Given the description of an element on the screen output the (x, y) to click on. 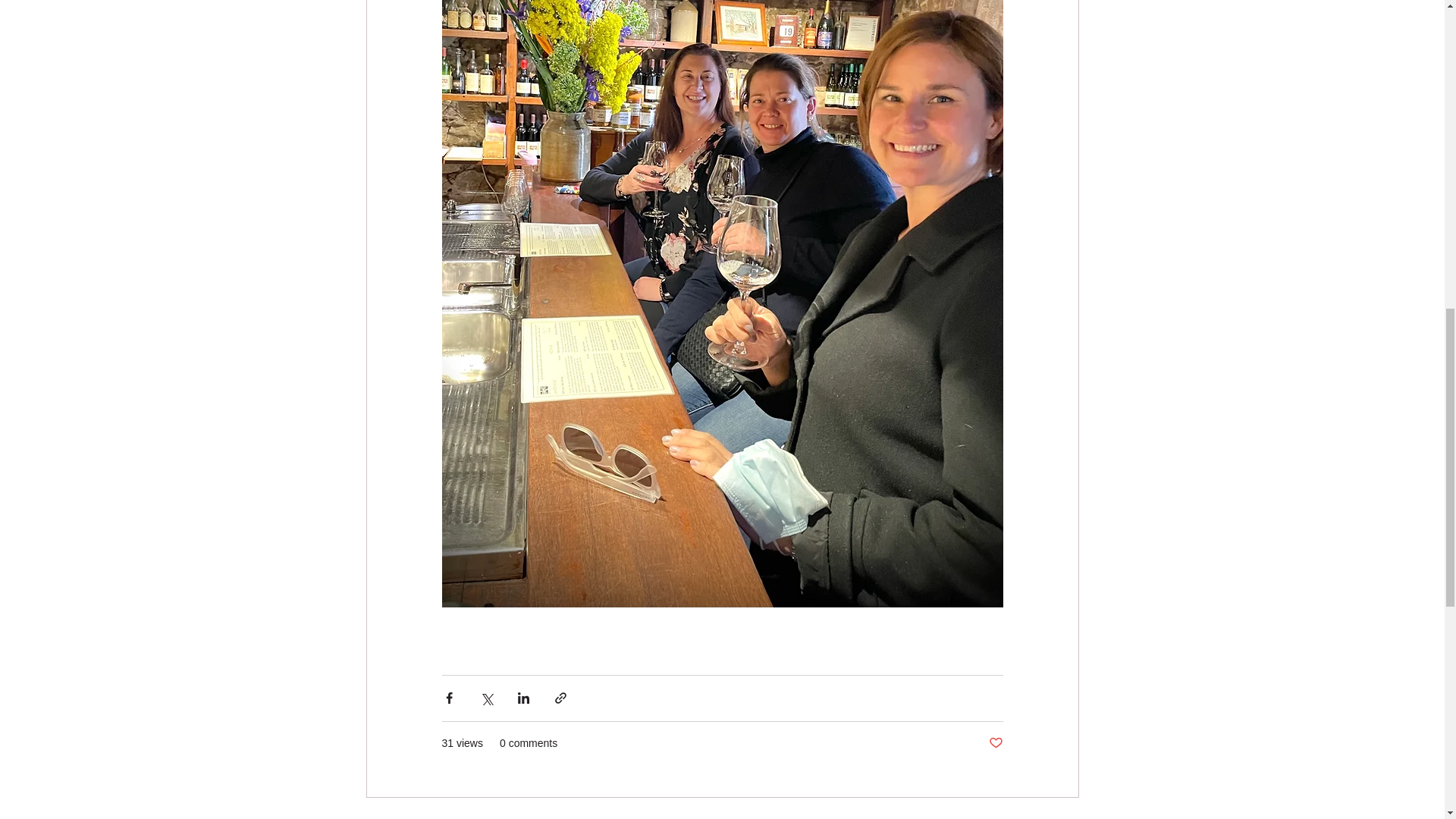
Post not marked as liked (995, 743)
See All (1061, 816)
